Given the description of an element on the screen output the (x, y) to click on. 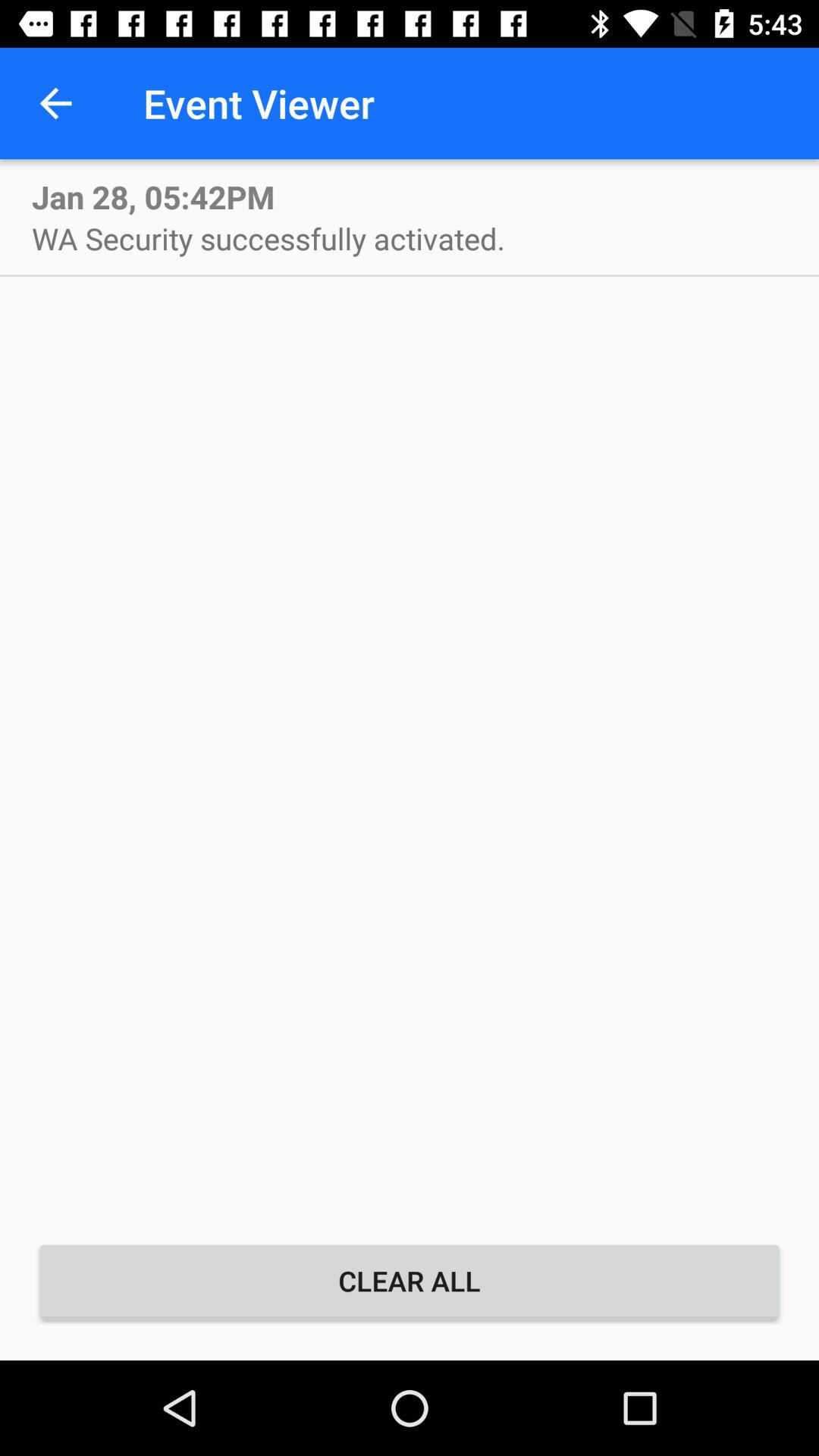
launch icon above the jan 28 05 (55, 103)
